Given the description of an element on the screen output the (x, y) to click on. 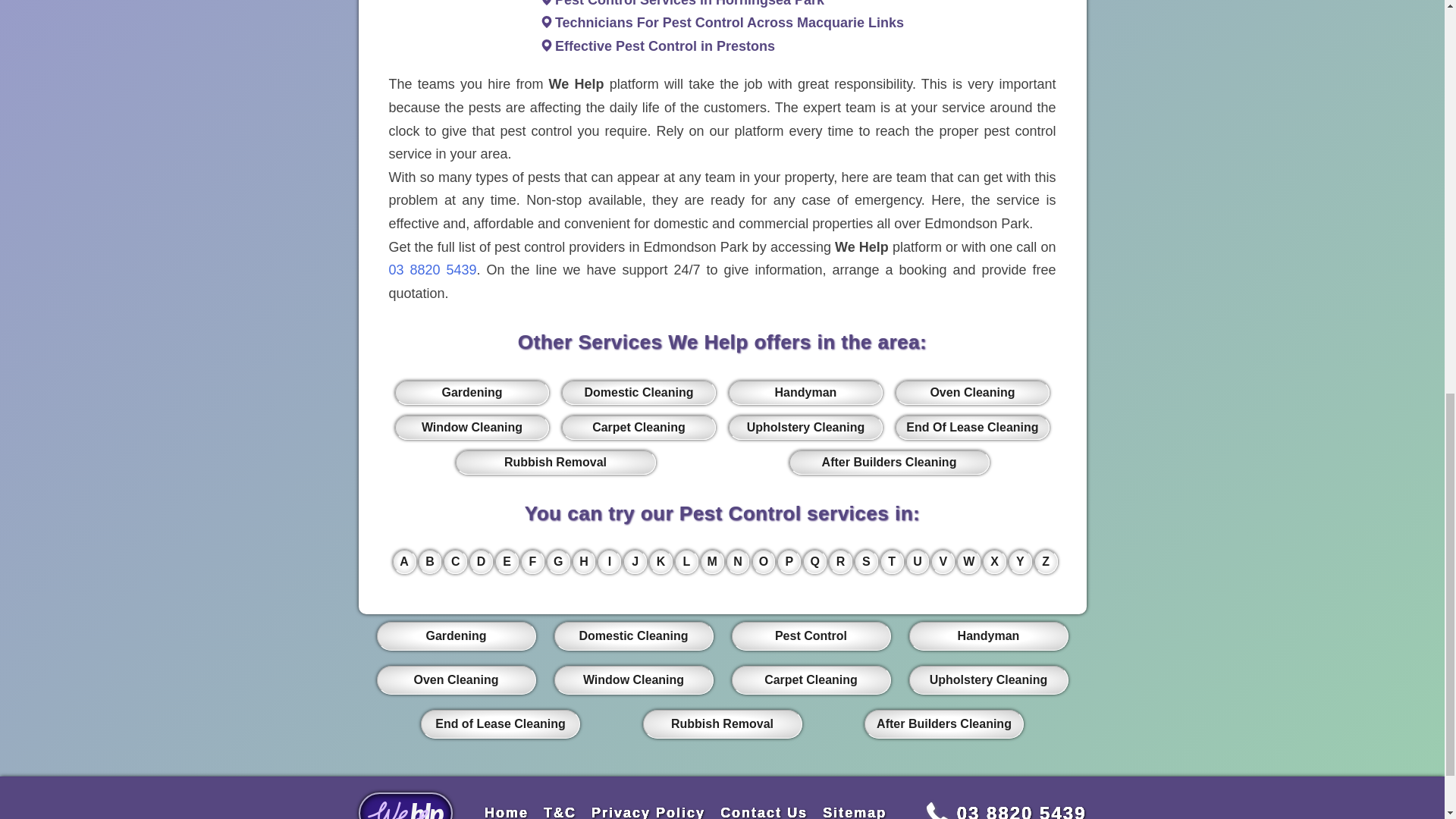
Upholstery Cleaning (805, 427)
Pest Control Services in Horningsea Park (689, 3)
Gardening Edmondson Park 2171 (471, 392)
Technicians For Pest Control Across Macquarie Links (729, 22)
Handyman Edmondson Park 2171 (805, 392)
Rubbish Removal Edmondson Park 2171 (554, 462)
Window Cleaning (471, 427)
Domestic Cleaning (638, 392)
Pest Control Services in Horningsea Park (689, 3)
Oven Cleaning Edmondson Park 2171 (971, 392)
Upholstery Cleaning Edmondson Park 2171 (805, 427)
Handyman (805, 392)
Gardening (471, 392)
Rubbish Removal (554, 462)
Carpet Cleaning (638, 427)
